Given the description of an element on the screen output the (x, y) to click on. 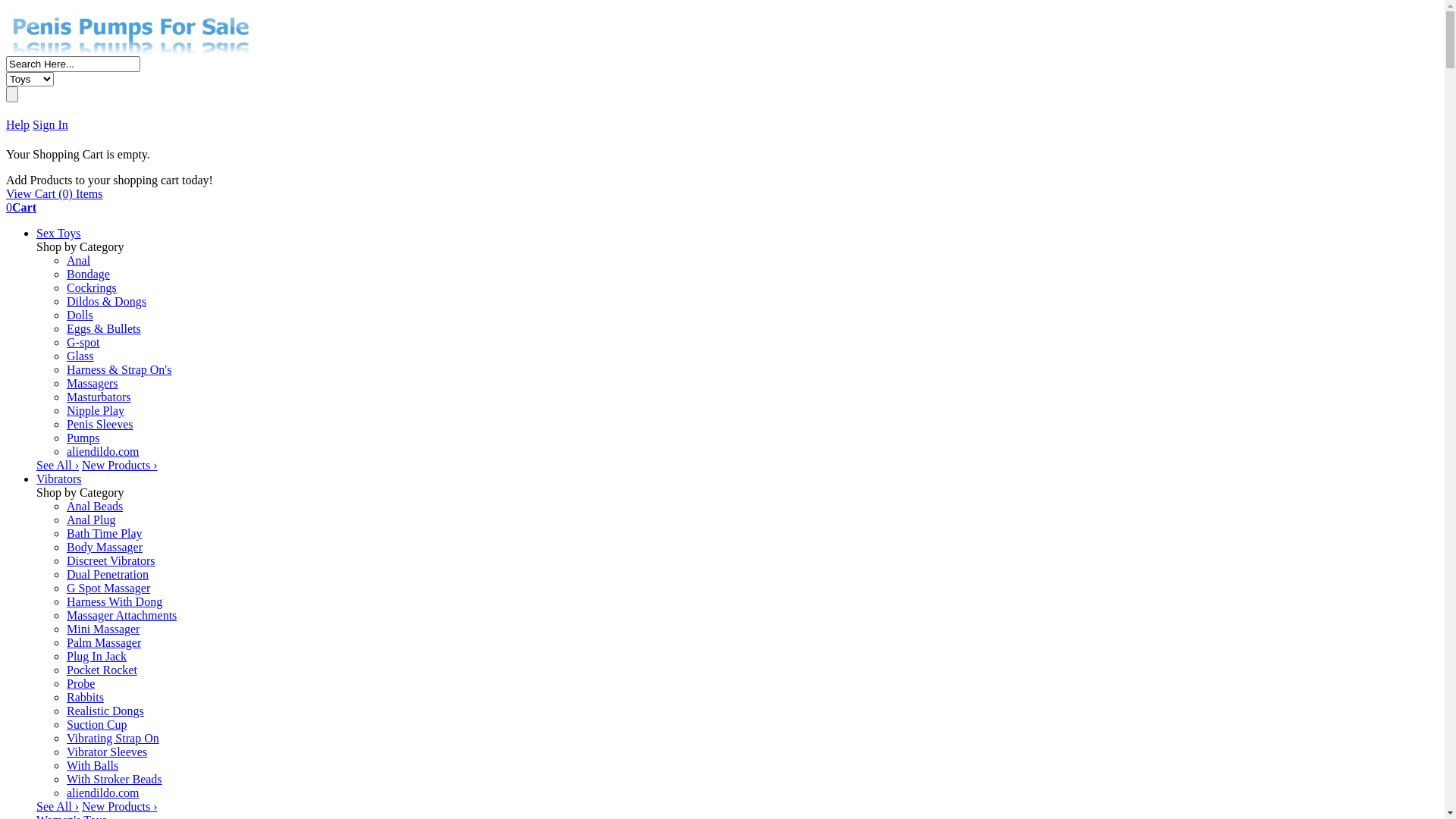
Nipple Play Element type: text (95, 410)
Body Massager Element type: text (104, 546)
View Cart (0) Items Element type: text (54, 193)
G Spot Massager Element type: text (108, 587)
Vibrators Element type: text (58, 478)
Suction Cup Element type: text (96, 724)
Plug In Jack Element type: text (96, 655)
0Cart Element type: text (21, 206)
Harness & Strap On's Element type: text (118, 369)
Discreet Vibrators Element type: text (110, 560)
Pocket Rocket Element type: text (101, 669)
Probe Element type: text (80, 683)
Eggs & Bullets Element type: text (103, 328)
Mini Massager Element type: text (102, 628)
Massagers Element type: text (92, 382)
Rabbits Element type: text (84, 696)
Pumps Element type: text (83, 437)
Penis Sleeves Element type: text (99, 423)
Glass Element type: text (80, 355)
Anal Plug Element type: text (90, 519)
With Balls Element type: text (92, 765)
Harness With Dong Element type: text (114, 601)
aliendildo.com Element type: text (102, 792)
Shop.penispumpsforsale.com Element type: hover (133, 49)
Bath Time Play Element type: text (104, 533)
Dual Penetration Element type: text (107, 573)
Vibrating Strap On Element type: text (112, 737)
Realistic Dongs Element type: text (105, 710)
Sex Toys Element type: text (58, 232)
aliendildo.com Element type: text (102, 451)
With Stroker Beads Element type: text (114, 778)
Anal Beads Element type: text (94, 505)
Help Element type: text (17, 124)
Bondage Element type: text (87, 273)
Dildos & Dongs Element type: text (106, 300)
Anal Element type: text (78, 260)
Massager Attachments Element type: text (121, 614)
Masturbators Element type: text (98, 396)
Palm Massager Element type: text (103, 642)
Sign In Element type: text (50, 124)
Cockrings Element type: text (91, 287)
Dolls Element type: text (79, 314)
Vibrator Sleeves Element type: text (106, 751)
G-spot Element type: text (83, 341)
